Given the description of an element on the screen output the (x, y) to click on. 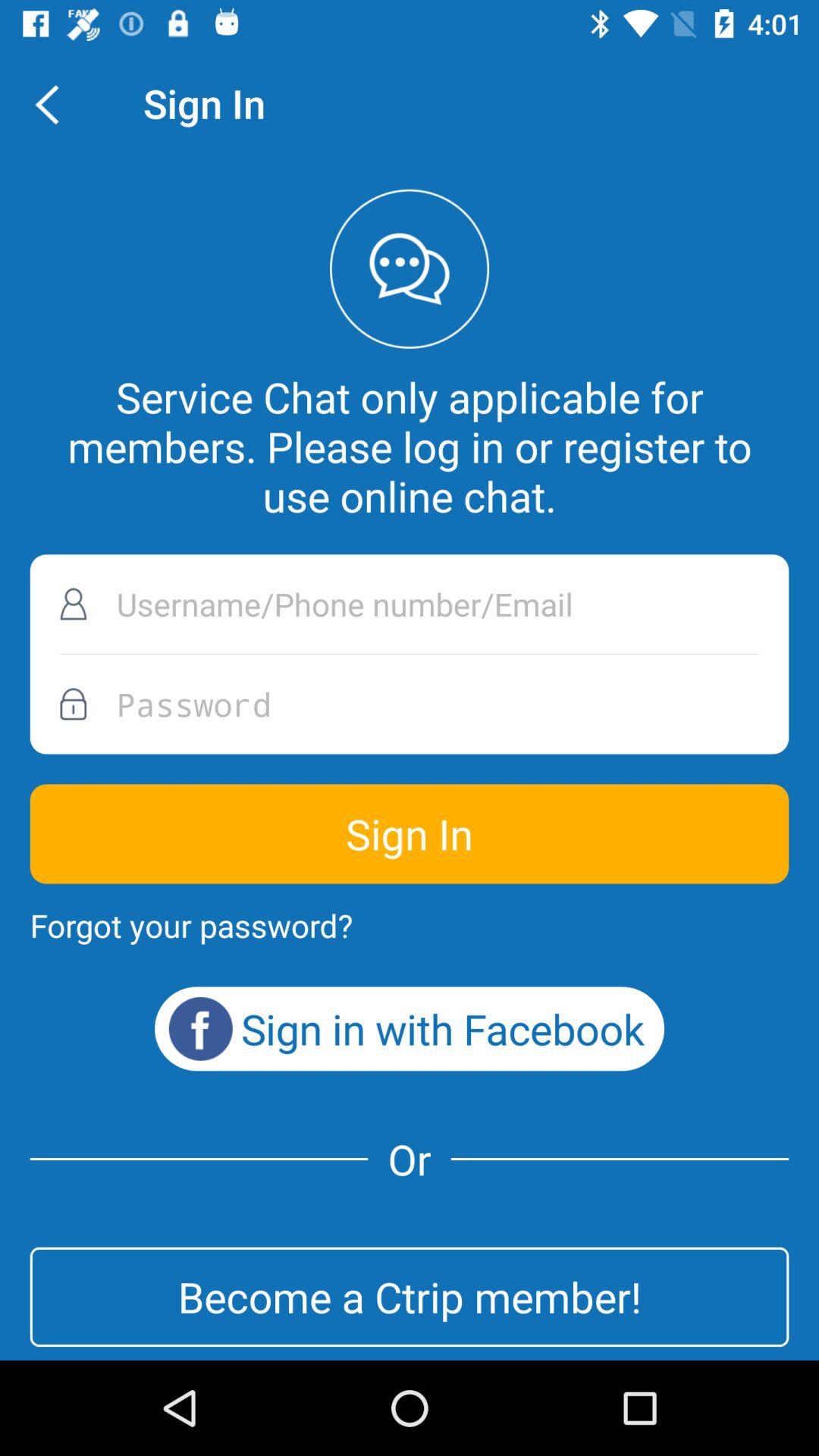
choose the icon below or icon (409, 1296)
